Given the description of an element on the screen output the (x, y) to click on. 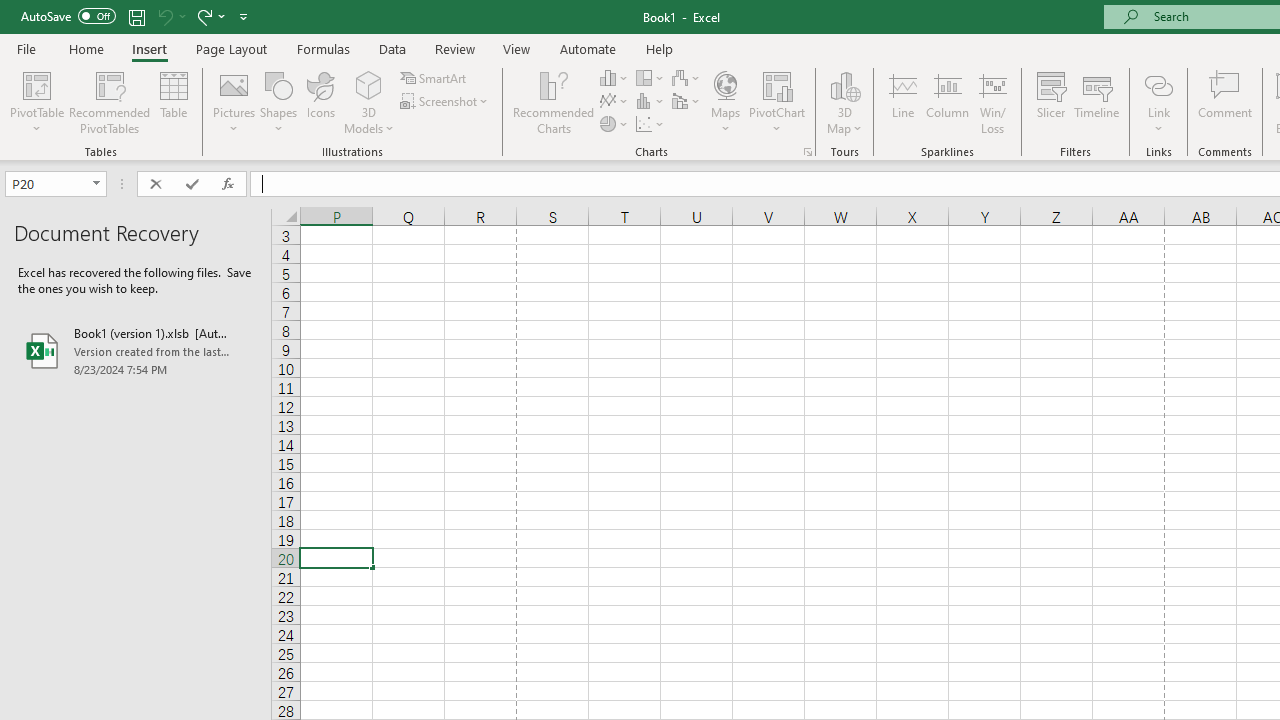
3D Models (368, 102)
Win/Loss (992, 102)
Insert Line or Area Chart (614, 101)
Screenshot (445, 101)
Recommended PivotTables (109, 102)
Timeline (1097, 102)
3D Models (368, 84)
Slicer... (1051, 102)
SmartArt... (434, 78)
PivotChart (777, 84)
